Given the description of an element on the screen output the (x, y) to click on. 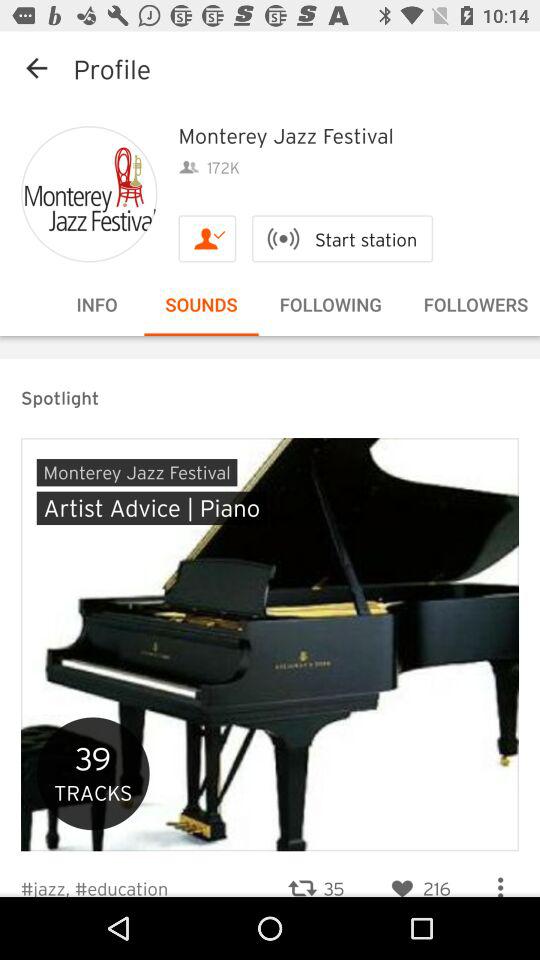
turn on icon to the right of 35 icon (418, 876)
